Given the description of an element on the screen output the (x, y) to click on. 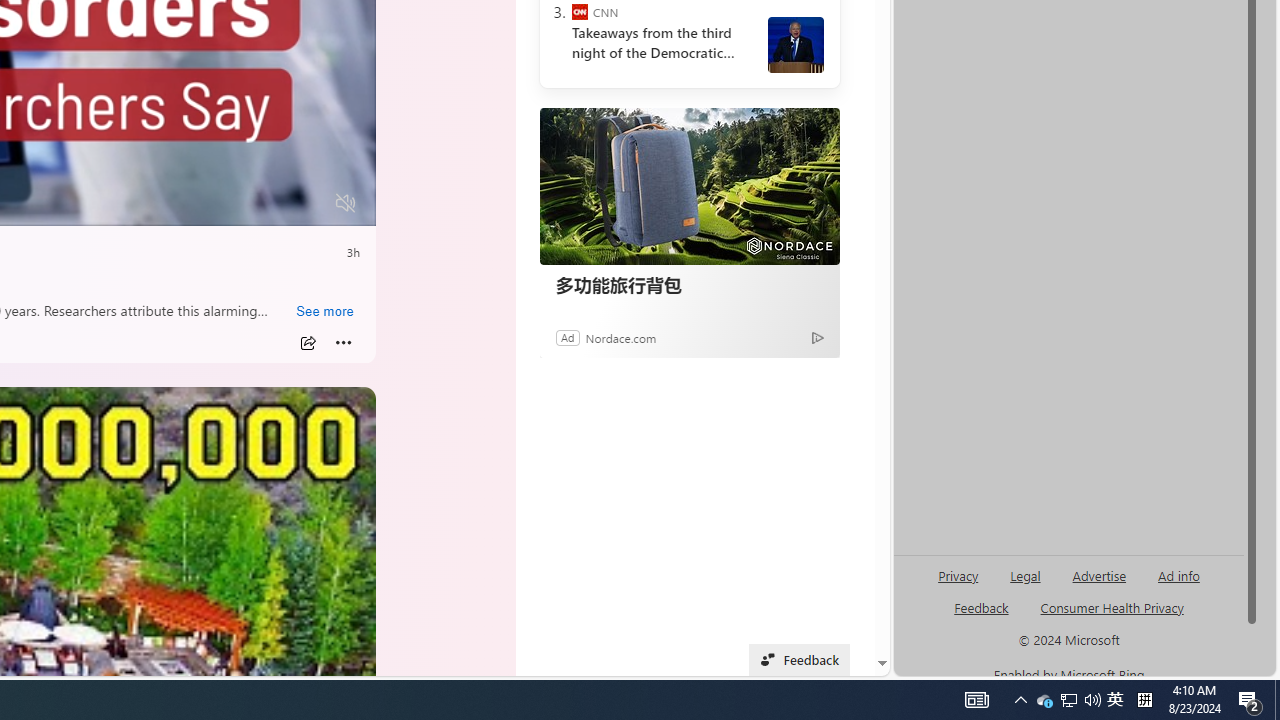
Fullscreen (307, 203)
Captions (268, 203)
Class: at-item inline-watch (343, 343)
Share (307, 343)
Nordace.com (620, 337)
AutomationID: genId96 (981, 615)
AutomationID: sb_feedback (980, 607)
More (343, 343)
Quality Settings (227, 203)
